Given the description of an element on the screen output the (x, y) to click on. 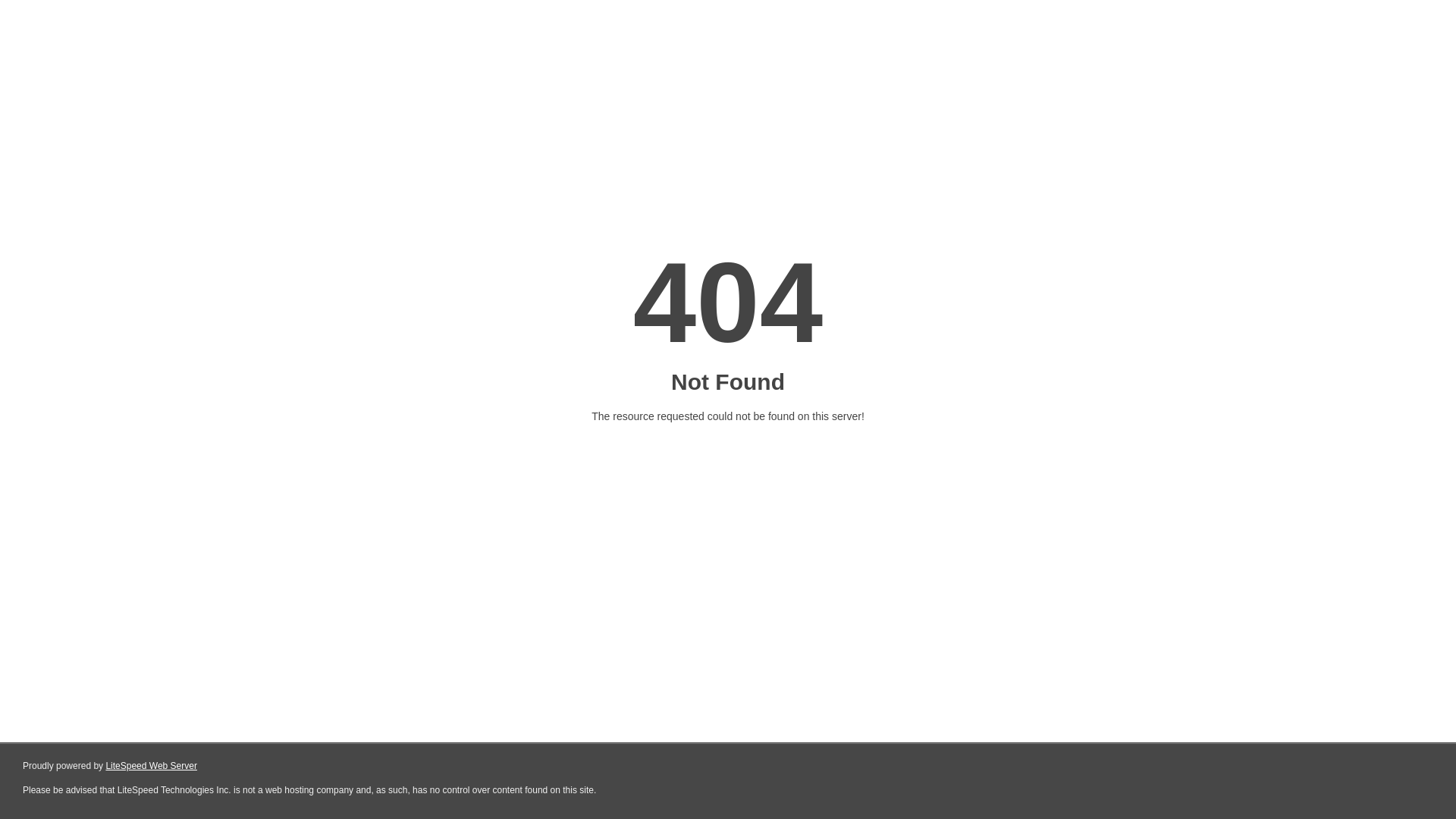
LiteSpeed Web Server Element type: text (151, 765)
